Given the description of an element on the screen output the (x, y) to click on. 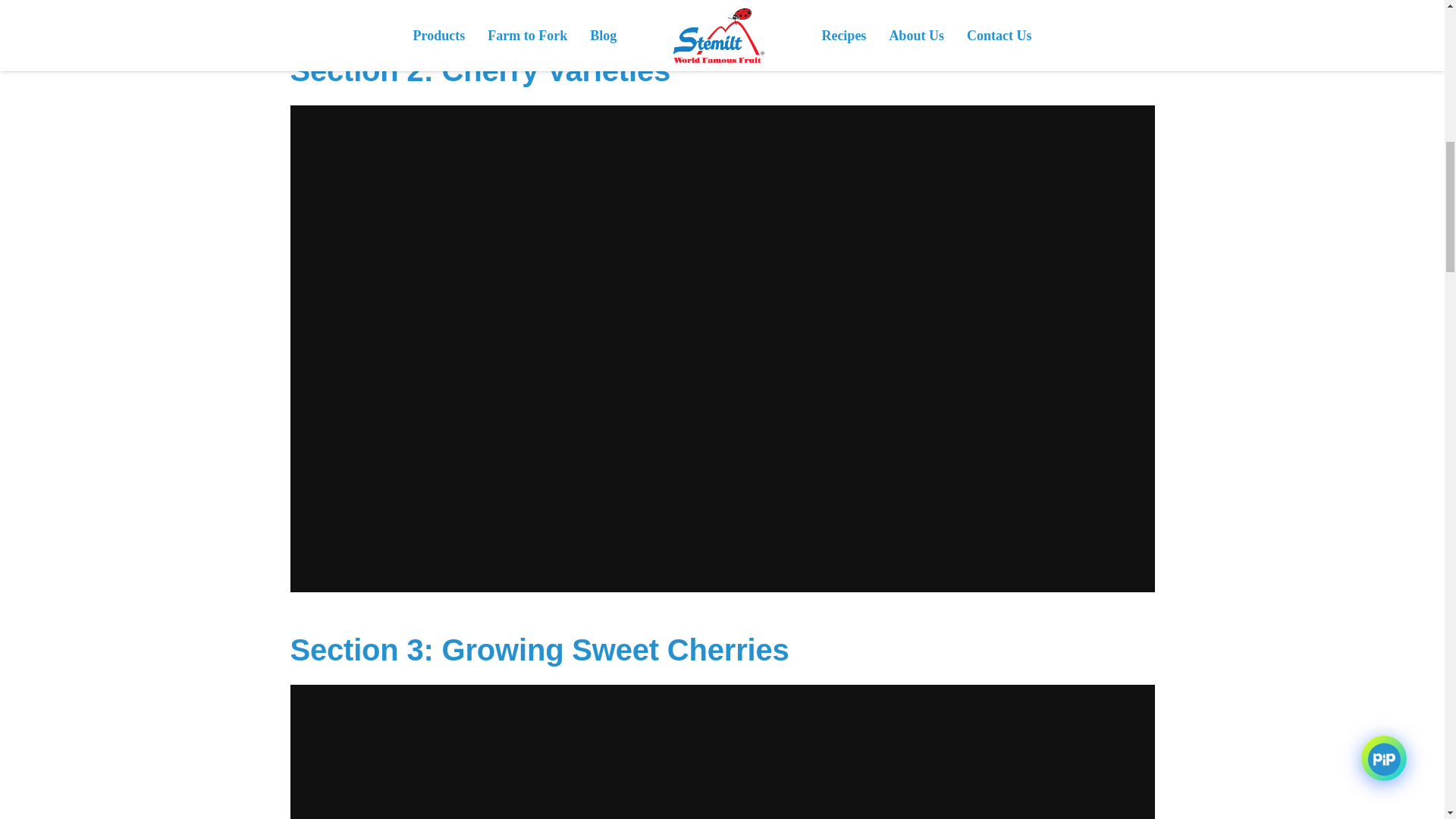
Youtube video player (721, 6)
Youtube video player (721, 751)
